Given the description of an element on the screen output the (x, y) to click on. 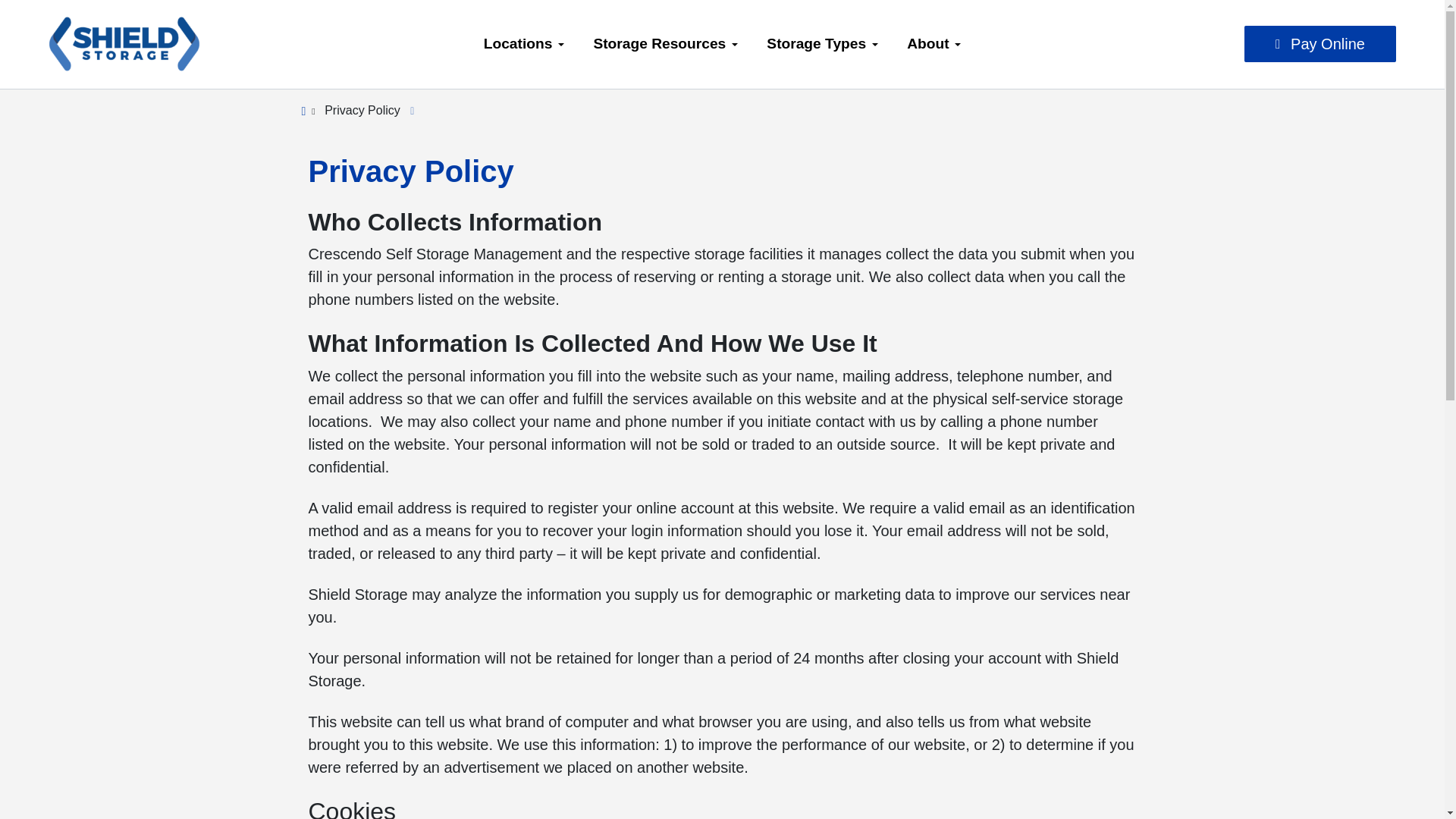
Storage Types (822, 44)
Locations (523, 44)
Storage Resources (665, 44)
About (933, 44)
Locations (523, 44)
Pay Online (1320, 43)
Storage Types (822, 44)
Storage Resources (665, 44)
